Given the description of an element on the screen output the (x, y) to click on. 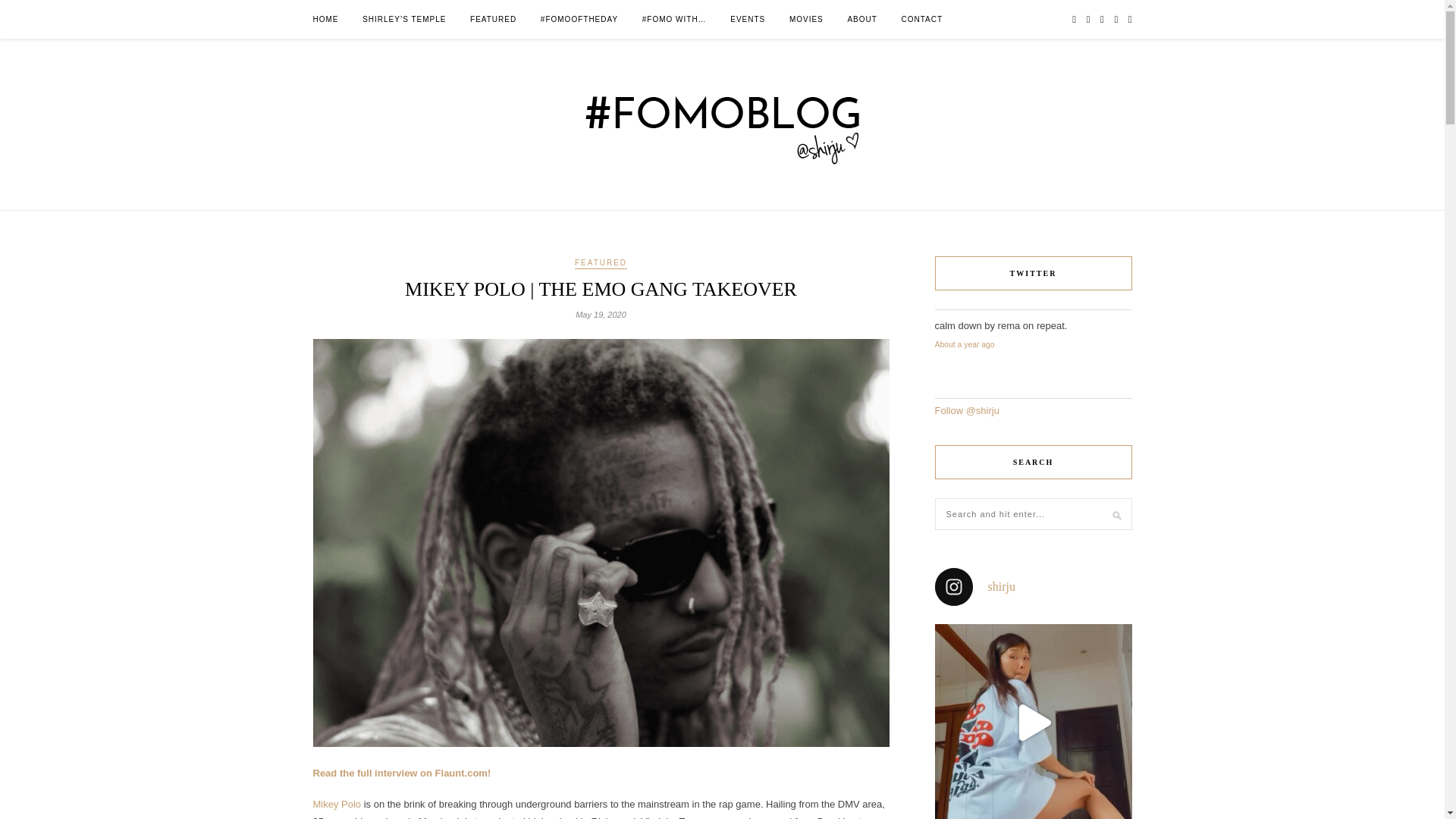
Mikey Polo (337, 803)
FEATURED (601, 263)
Read the full interview on Flaunt.com! (401, 772)
View all posts in Featured (601, 263)
CONTACT (921, 19)
FEATURED (493, 19)
EVENTS (747, 19)
